Given the description of an element on the screen output the (x, y) to click on. 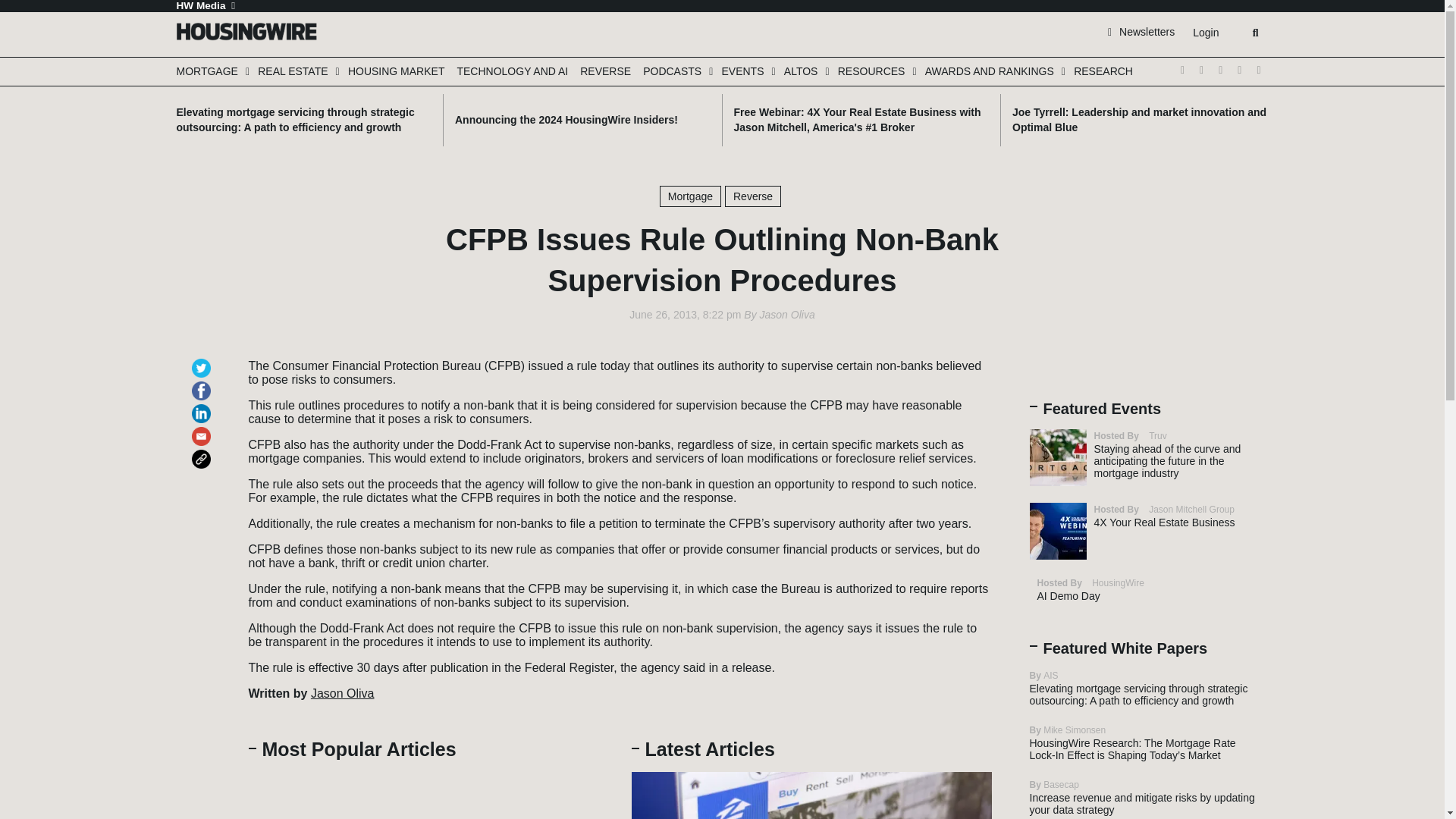
Posts by Jason Oliva (787, 314)
Click to copy link (203, 452)
Click to share on LinkedIn (203, 406)
Click to share on Facebook (203, 383)
Click to email a link to a friend (203, 429)
Newsletters (1141, 31)
Click to share on Twitter (203, 360)
Login (1205, 32)
